Given the description of an element on the screen output the (x, y) to click on. 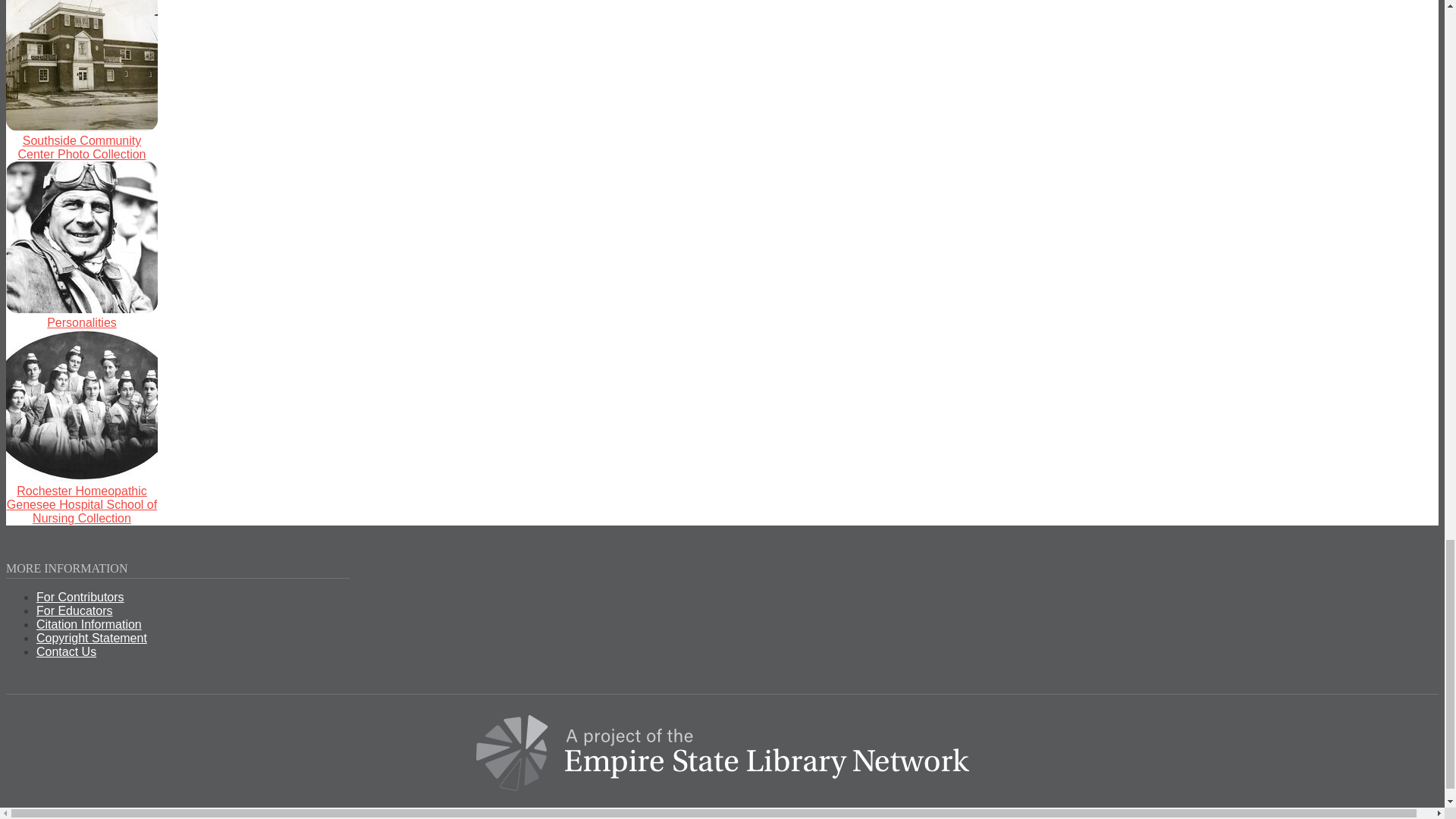
For Contributors (79, 596)
Southside Community Center Photo Collection (82, 147)
Personalities (81, 322)
